Given the description of an element on the screen output the (x, y) to click on. 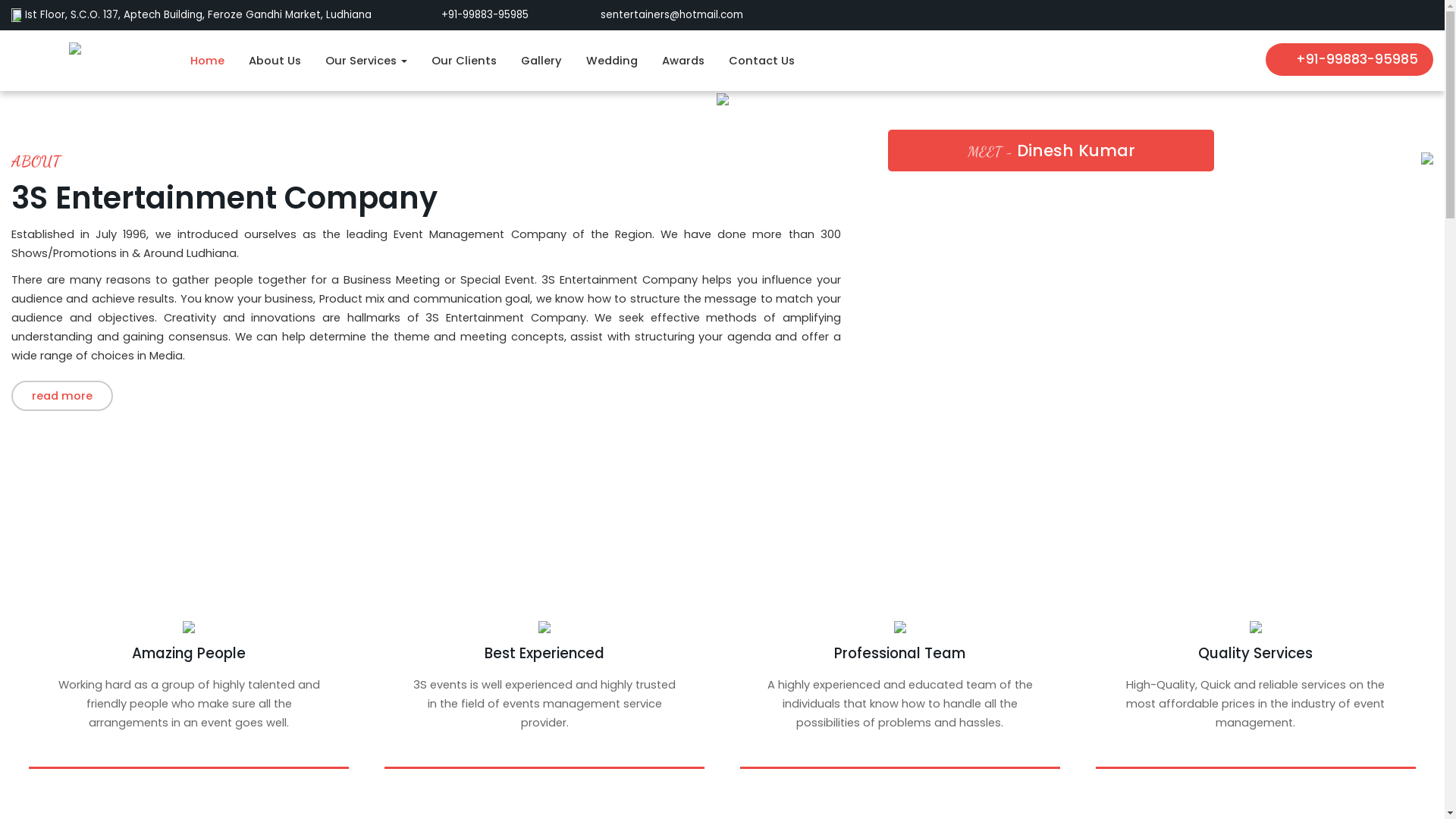
Contact Us Element type: text (761, 61)
Gallery Element type: text (541, 61)
read more Element type: text (61, 395)
Our Clients Element type: text (464, 61)
Awards Element type: text (682, 61)
sentertainers@hotmail.com Element type: text (662, 14)
+91-99883-95985 Element type: text (476, 14)
Our Services Element type: text (365, 61)
Home Element type: text (206, 61)
Wedding Element type: text (611, 61)
About Us Element type: text (274, 61)
+91-99883-95985 Element type: text (1349, 59)
